Given the description of an element on the screen output the (x, y) to click on. 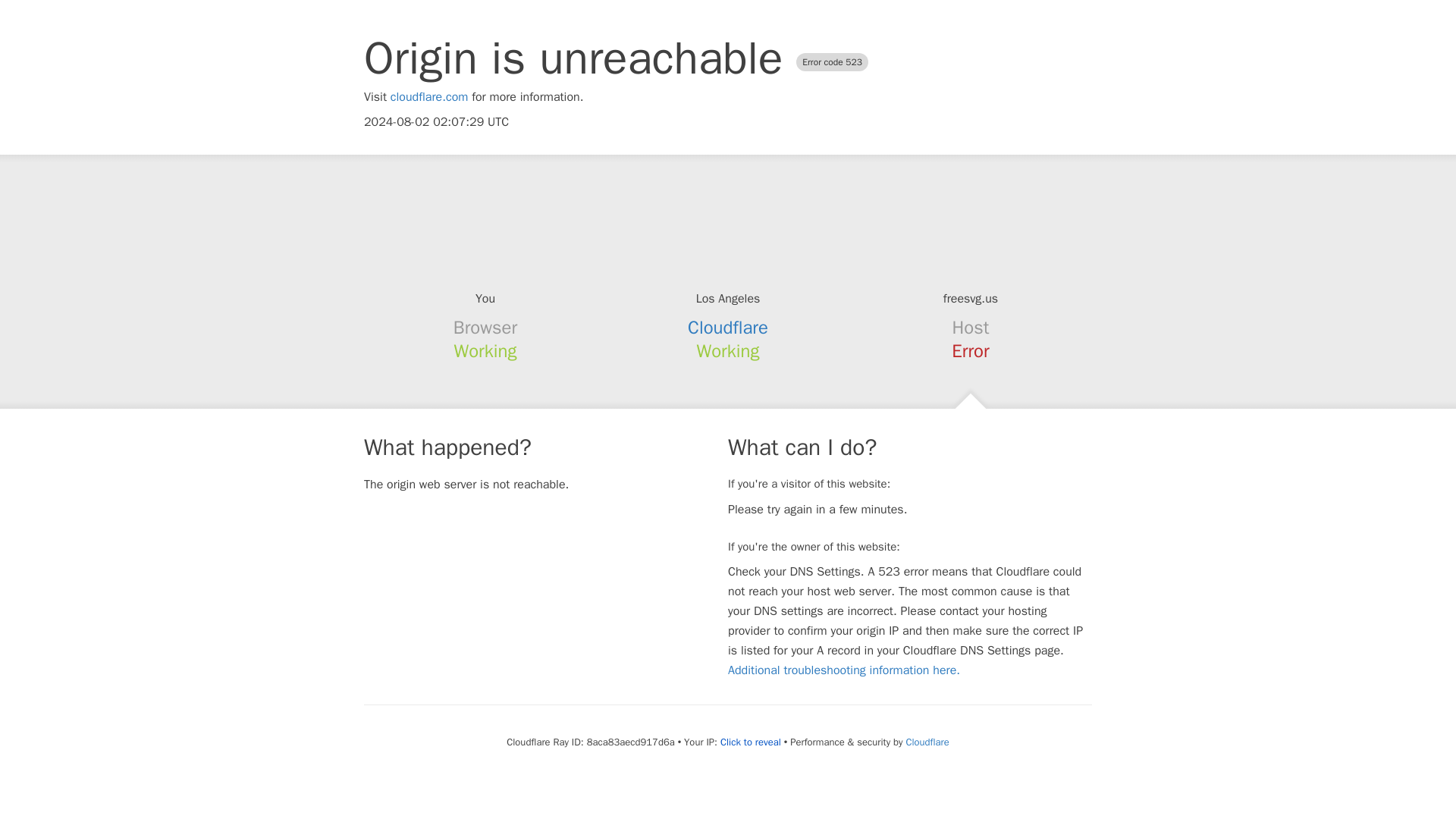
cloudflare.com (429, 96)
Cloudflare (727, 327)
Click to reveal (750, 742)
Additional troubleshooting information here. (843, 670)
Cloudflare (927, 741)
